Given the description of an element on the screen output the (x, y) to click on. 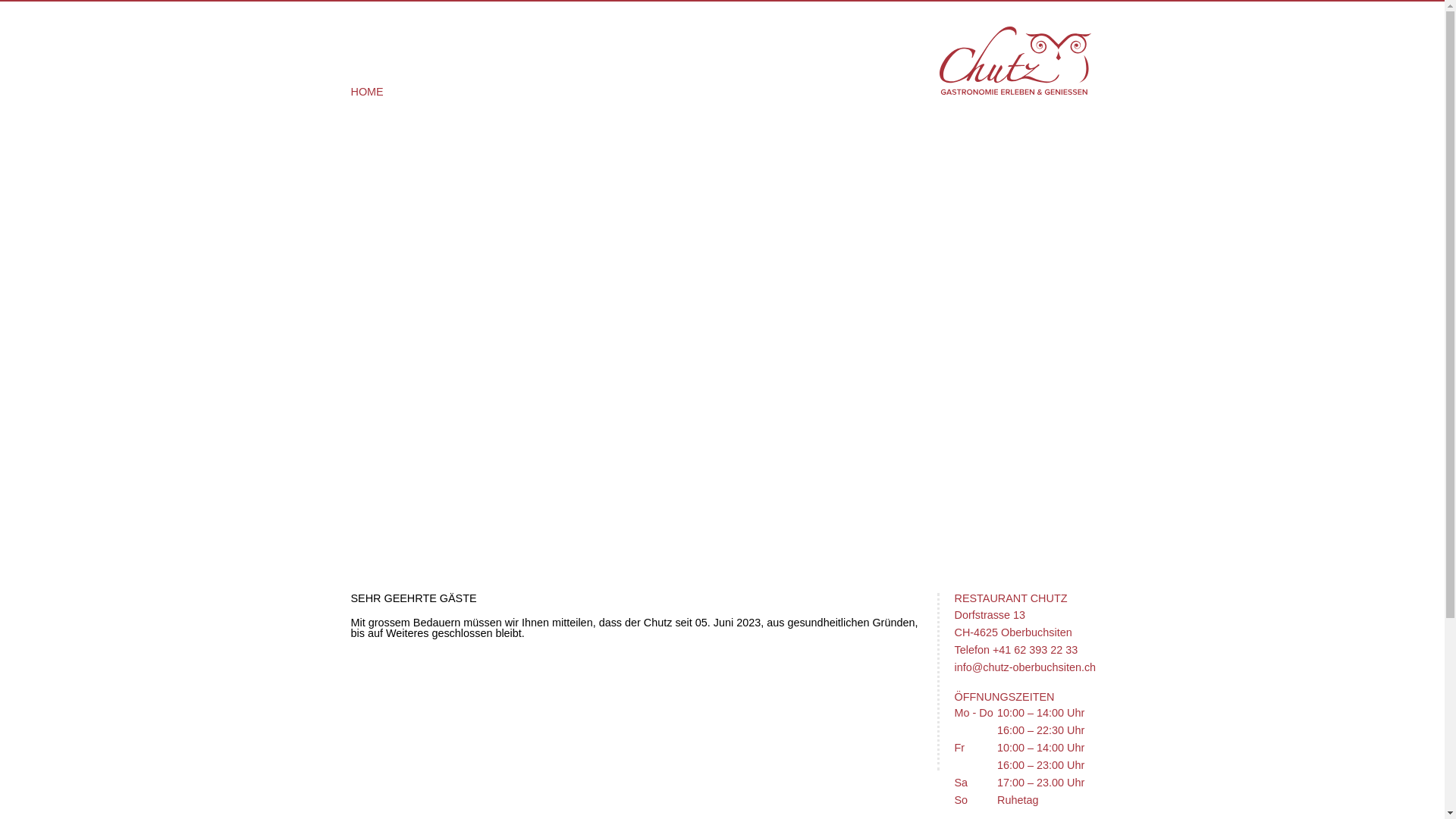
HOME Element type: text (366, 91)
+41 62 393 22 33 Element type: text (1034, 649)
info@chutz-oberbuchsiten.ch Element type: text (1024, 667)
